Given the description of an element on the screen output the (x, y) to click on. 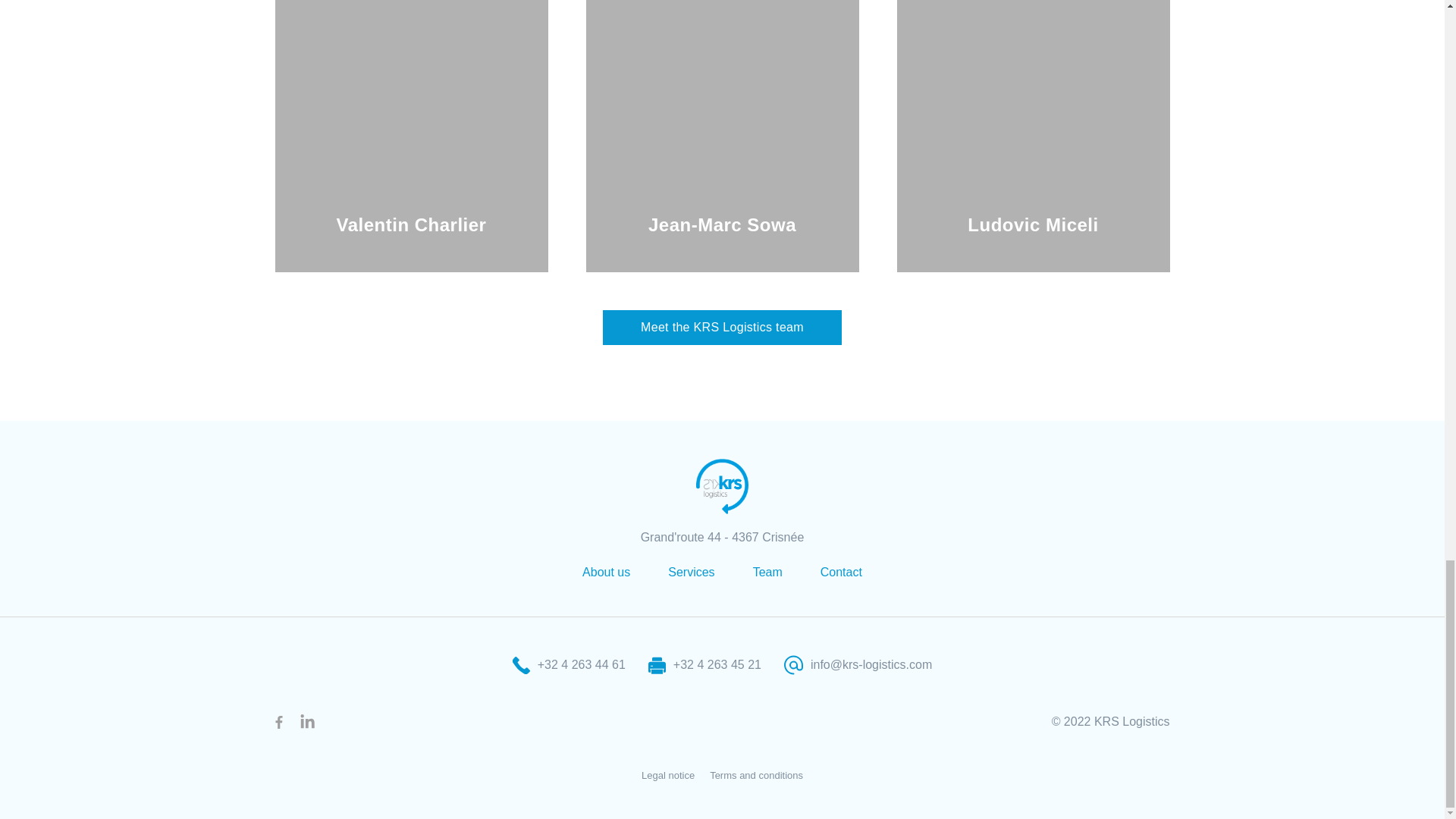
Linkedin (306, 721)
Team (767, 571)
Terms and conditions (756, 775)
Services (691, 571)
Contact (841, 571)
About us (606, 571)
Meet the KRS Logistics team (721, 327)
Legal notice (668, 775)
